Given the description of an element on the screen output the (x, y) to click on. 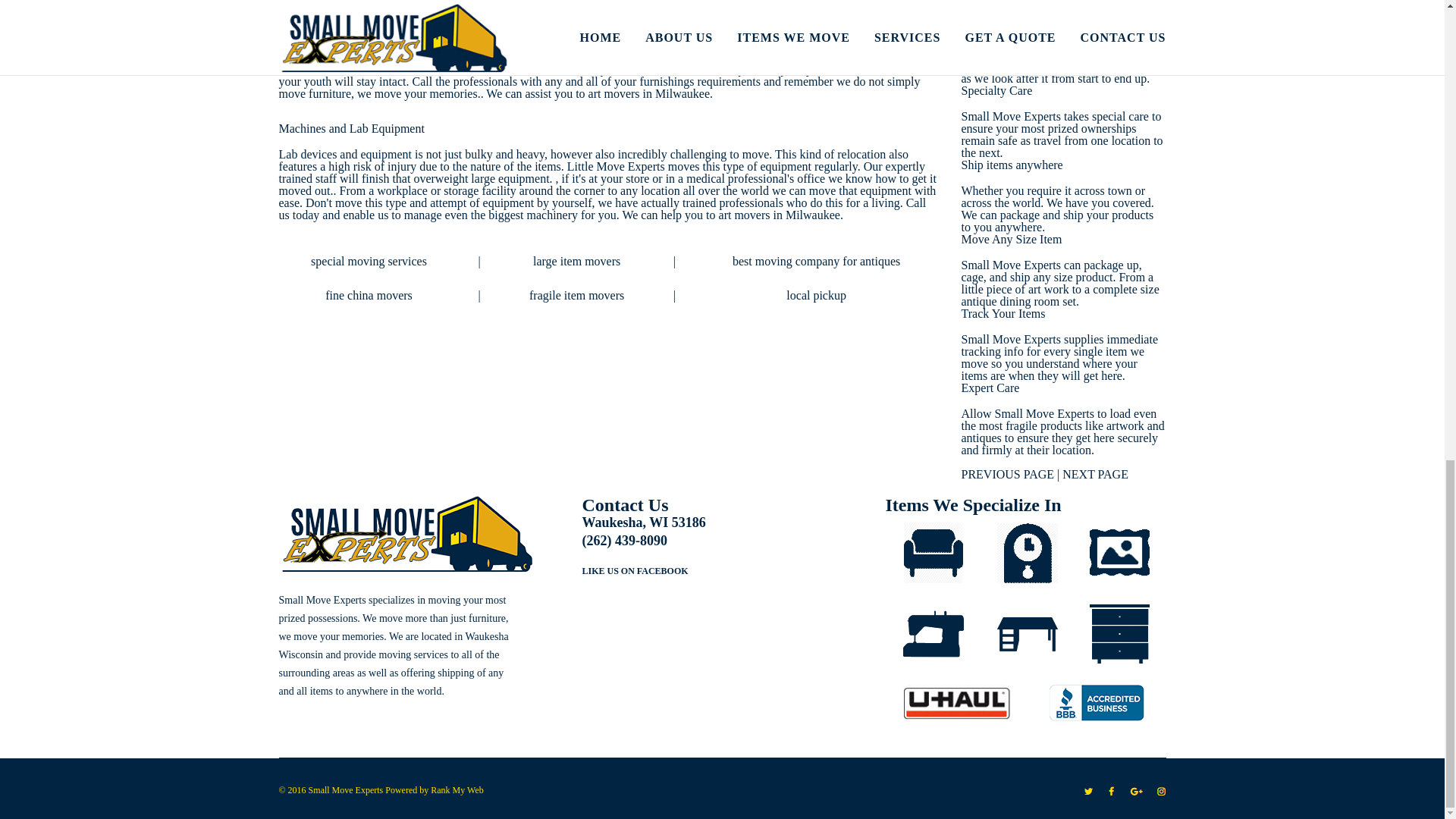
fragile item movers (576, 295)
large item movers (576, 260)
special moving services (368, 260)
Highly Trained Staff (1010, 15)
fine china movers (368, 295)
best moving company for antiques (815, 260)
local pickup (815, 295)
Specialty Care (996, 90)
